Given the description of an element on the screen output the (x, y) to click on. 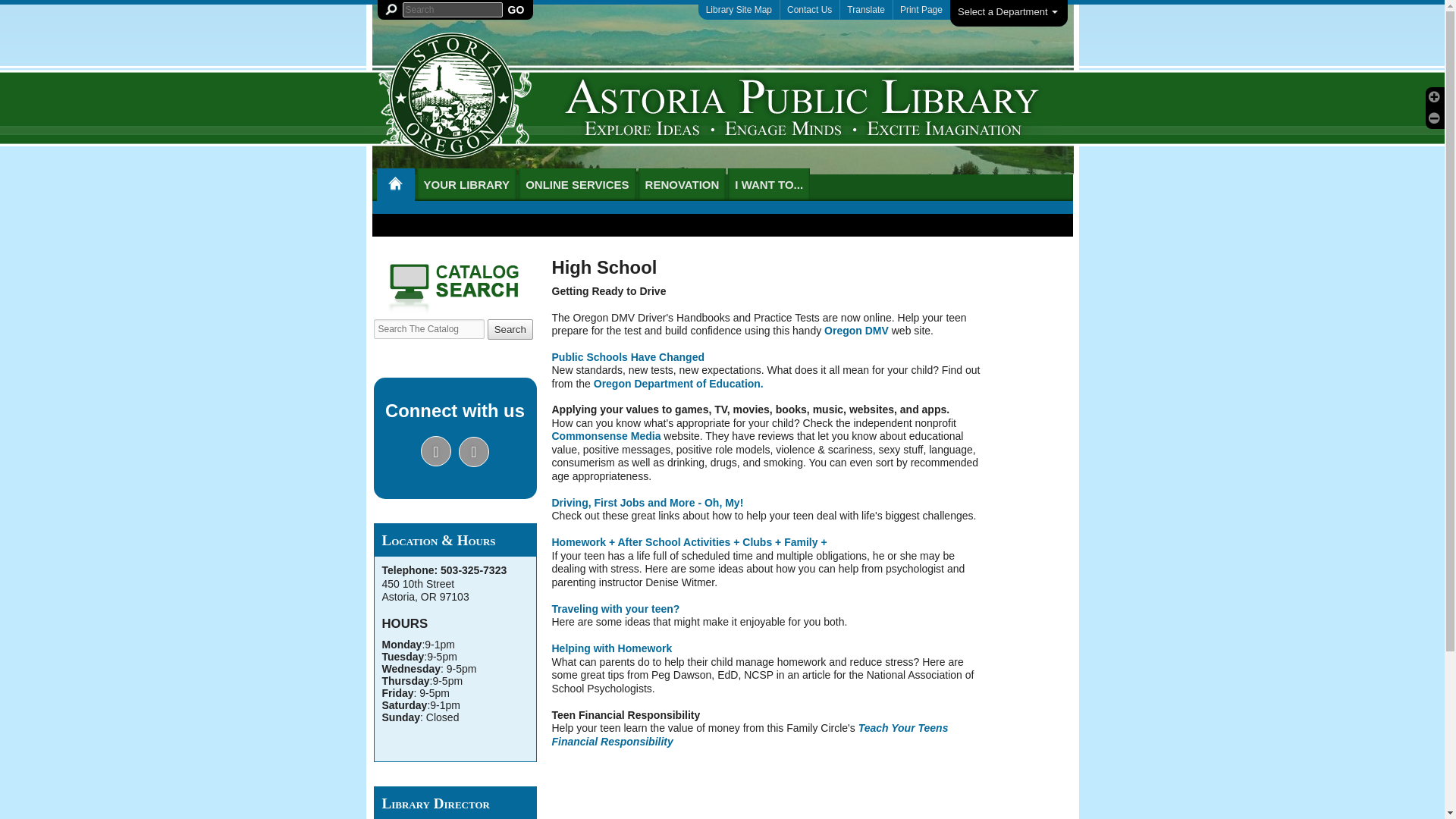
Library Site Map (738, 9)
Select a Department (1008, 13)
Go (515, 9)
Contact Us (809, 9)
Print Page (921, 9)
Translate (866, 9)
I WANT TO... (768, 184)
Print this Page (921, 9)
ONLINE SERVICES (576, 184)
YOUR LIBRARY (466, 184)
